Given the description of an element on the screen output the (x, y) to click on. 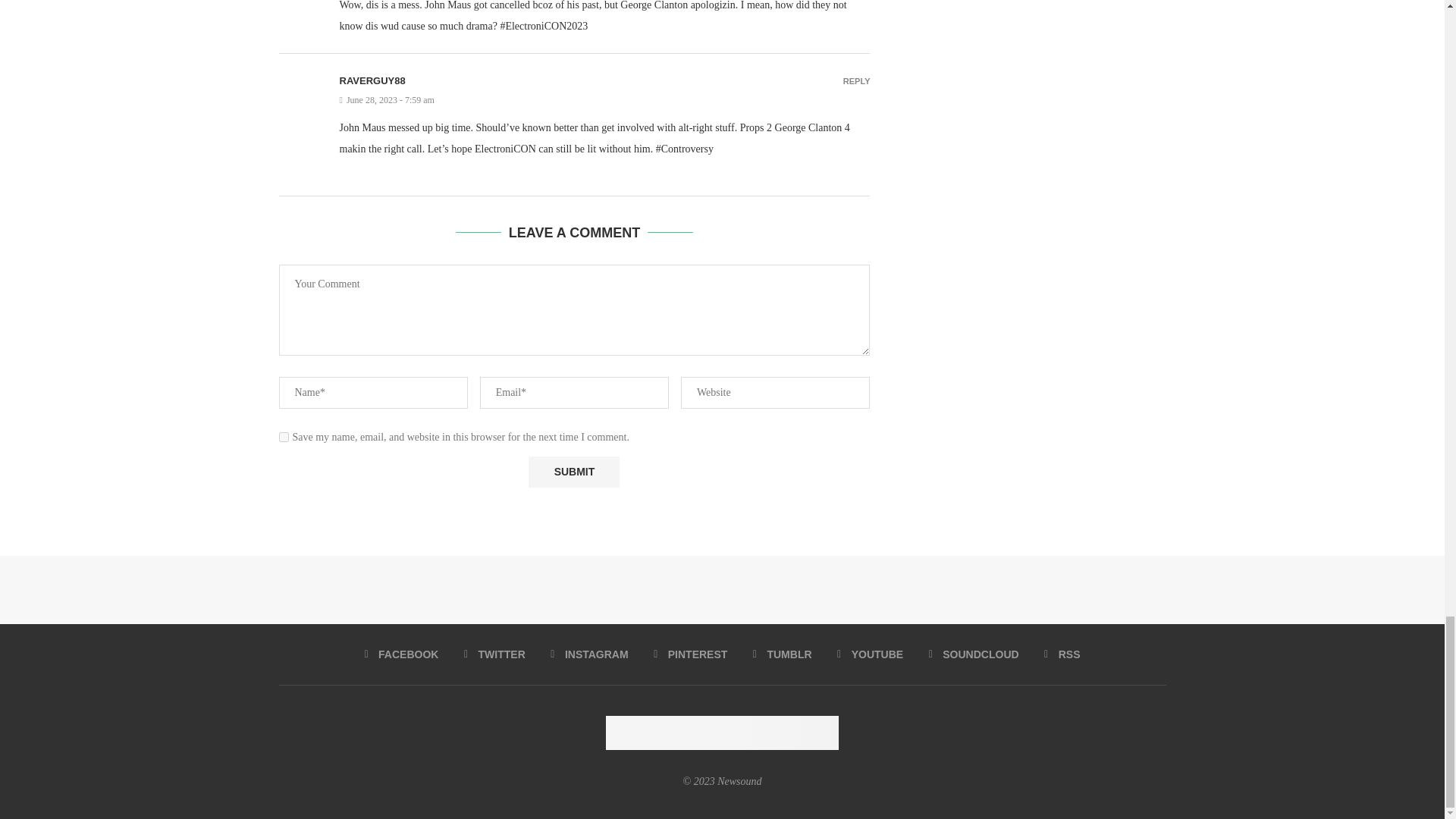
Submit (574, 471)
yes (283, 437)
